Given the description of an element on the screen output the (x, y) to click on. 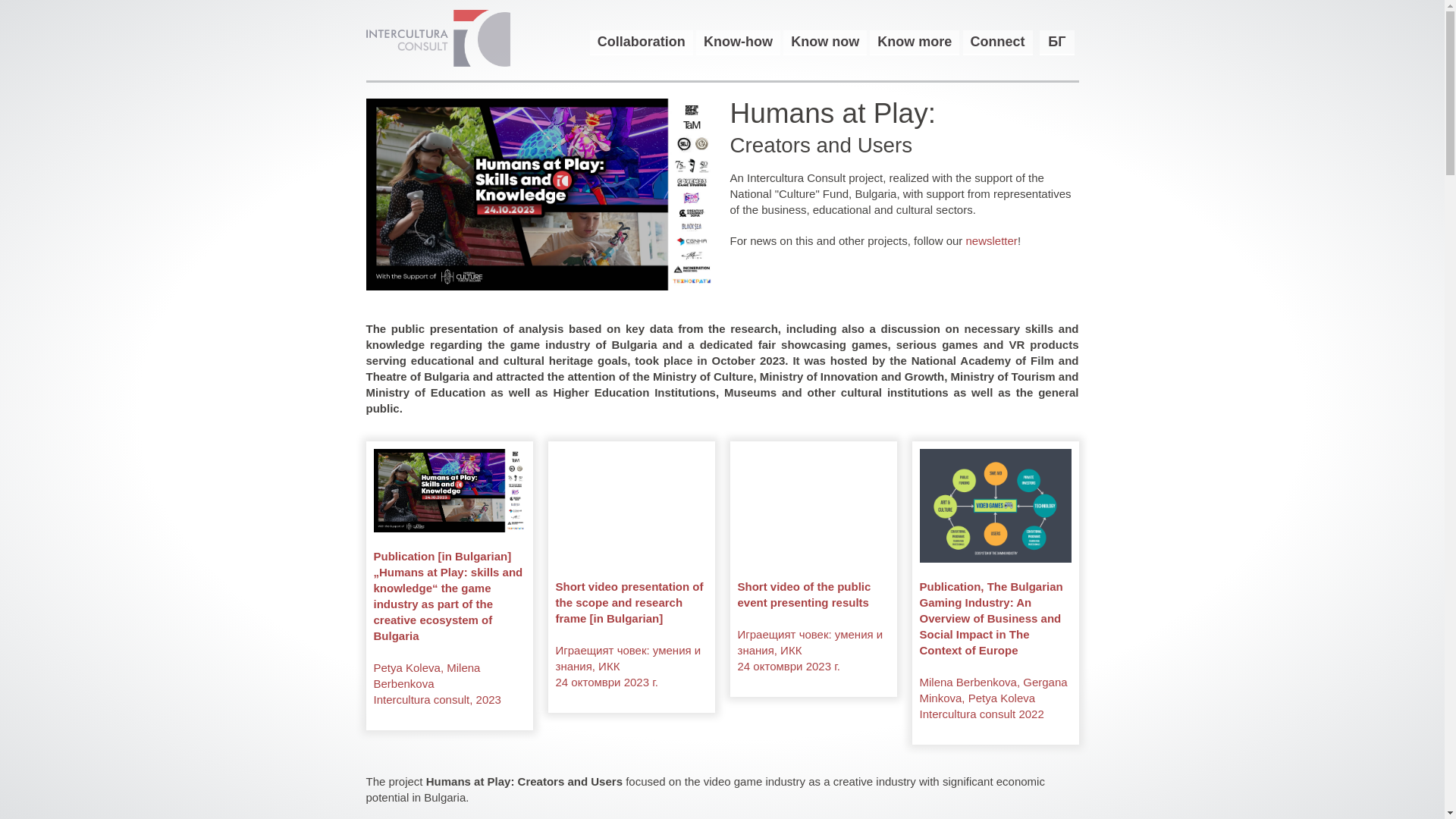
YouTube video player (812, 505)
YouTube video player (630, 505)
Know more (914, 42)
Intercultura Consult (438, 37)
Know now (824, 42)
newsletter (991, 240)
Collaboration (641, 42)
Connect (997, 42)
Know-how (737, 42)
